Given the description of an element on the screen output the (x, y) to click on. 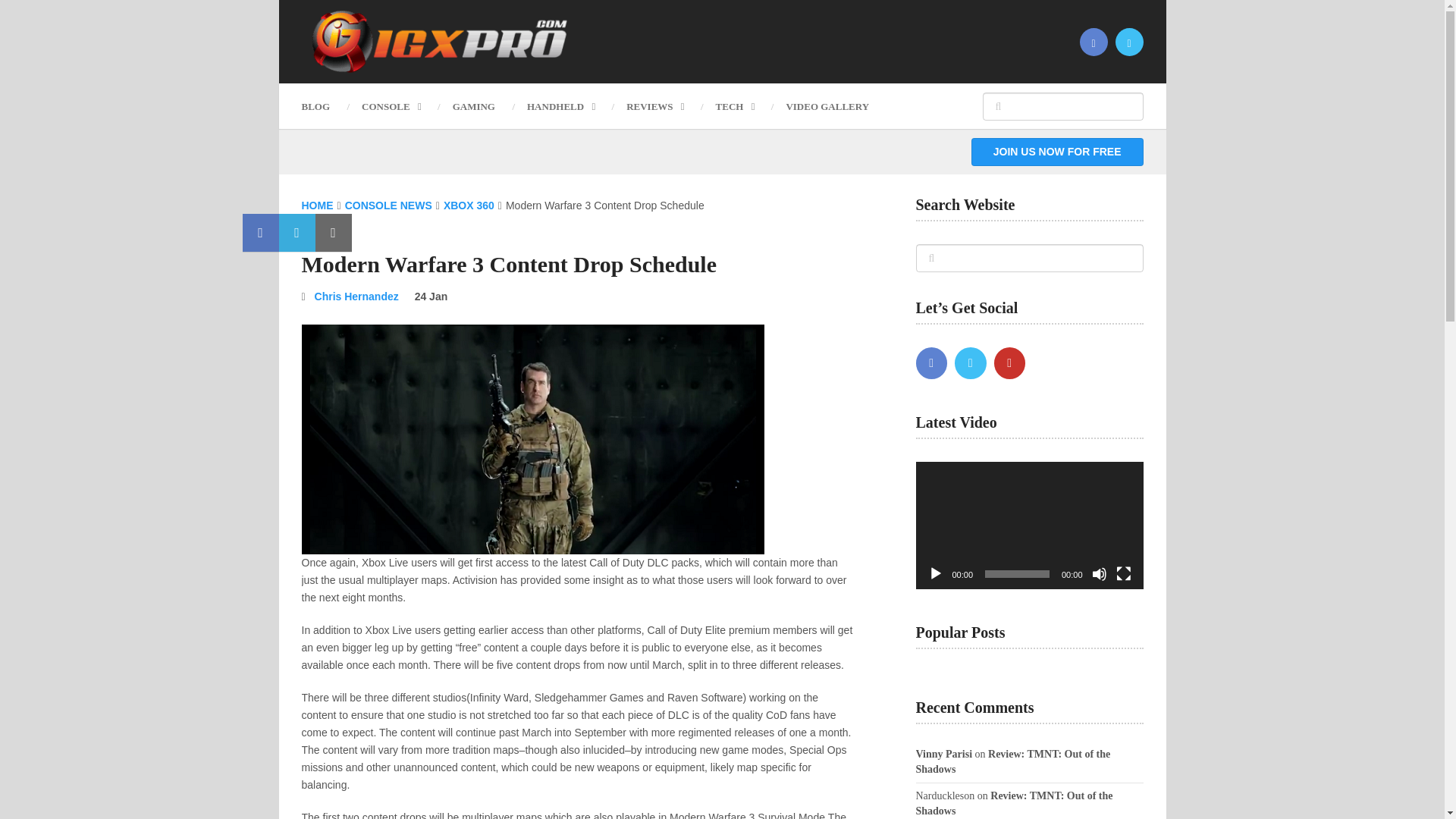
VIDEO GALLERY (827, 105)
HANDHELD (560, 105)
REVIEWS (654, 105)
Facebook (931, 363)
Chris Hernandez (356, 296)
XBOX 360 (469, 205)
Play (935, 573)
BLOG (323, 105)
Fullscreen (1123, 573)
GAMING (473, 105)
Twitter (971, 363)
TECH (735, 105)
Mute (1099, 573)
JOIN US NOW FOR FREE (1056, 152)
Posts by Chris Hernandez (356, 296)
